Given the description of an element on the screen output the (x, y) to click on. 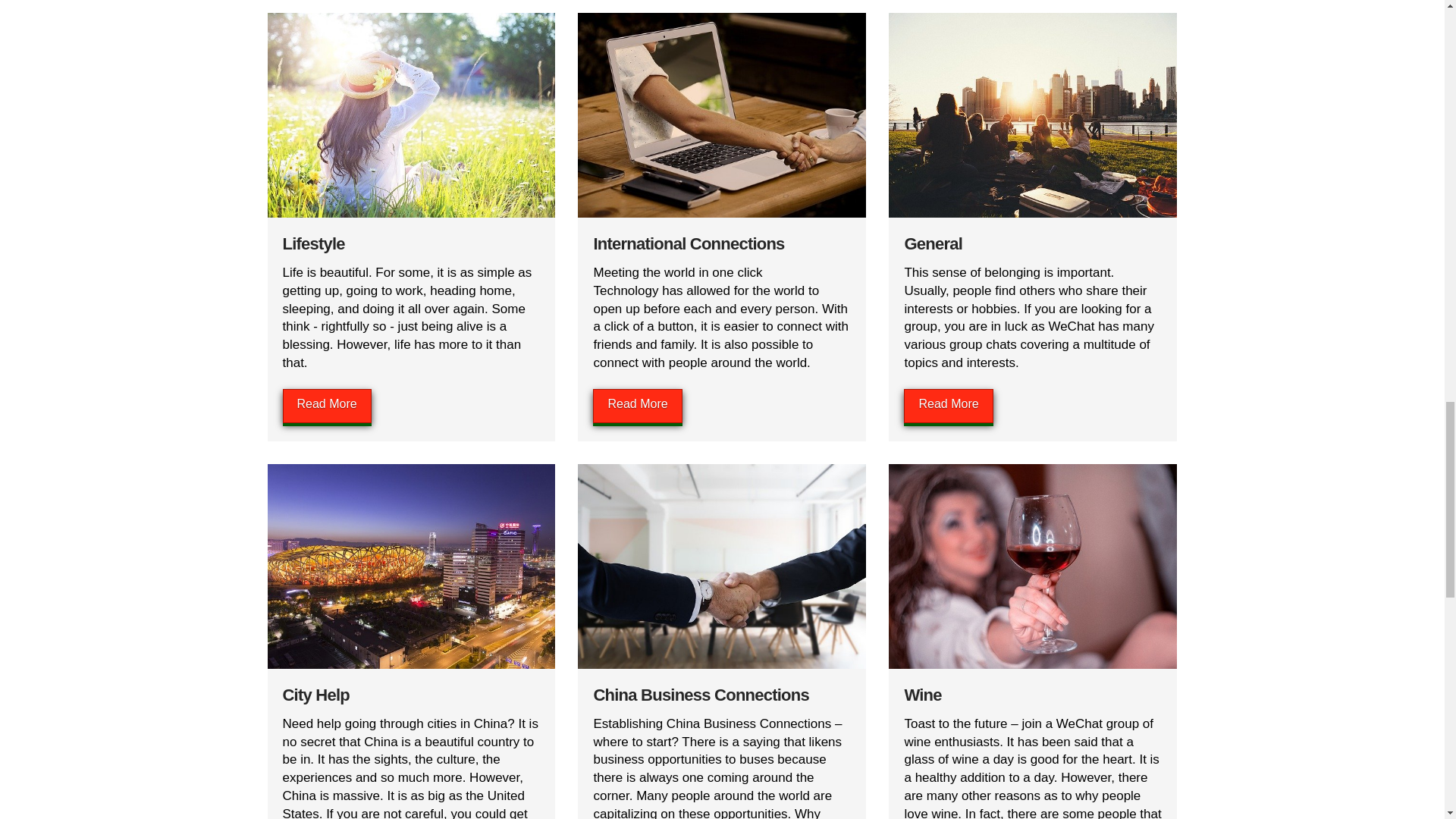
International Connections (688, 243)
China Business Connections (700, 694)
Read More (948, 406)
City Help (315, 694)
General (933, 243)
Lifestyle (312, 243)
Read More (636, 406)
Read More (326, 406)
Wine (922, 694)
